Given the description of an element on the screen output the (x, y) to click on. 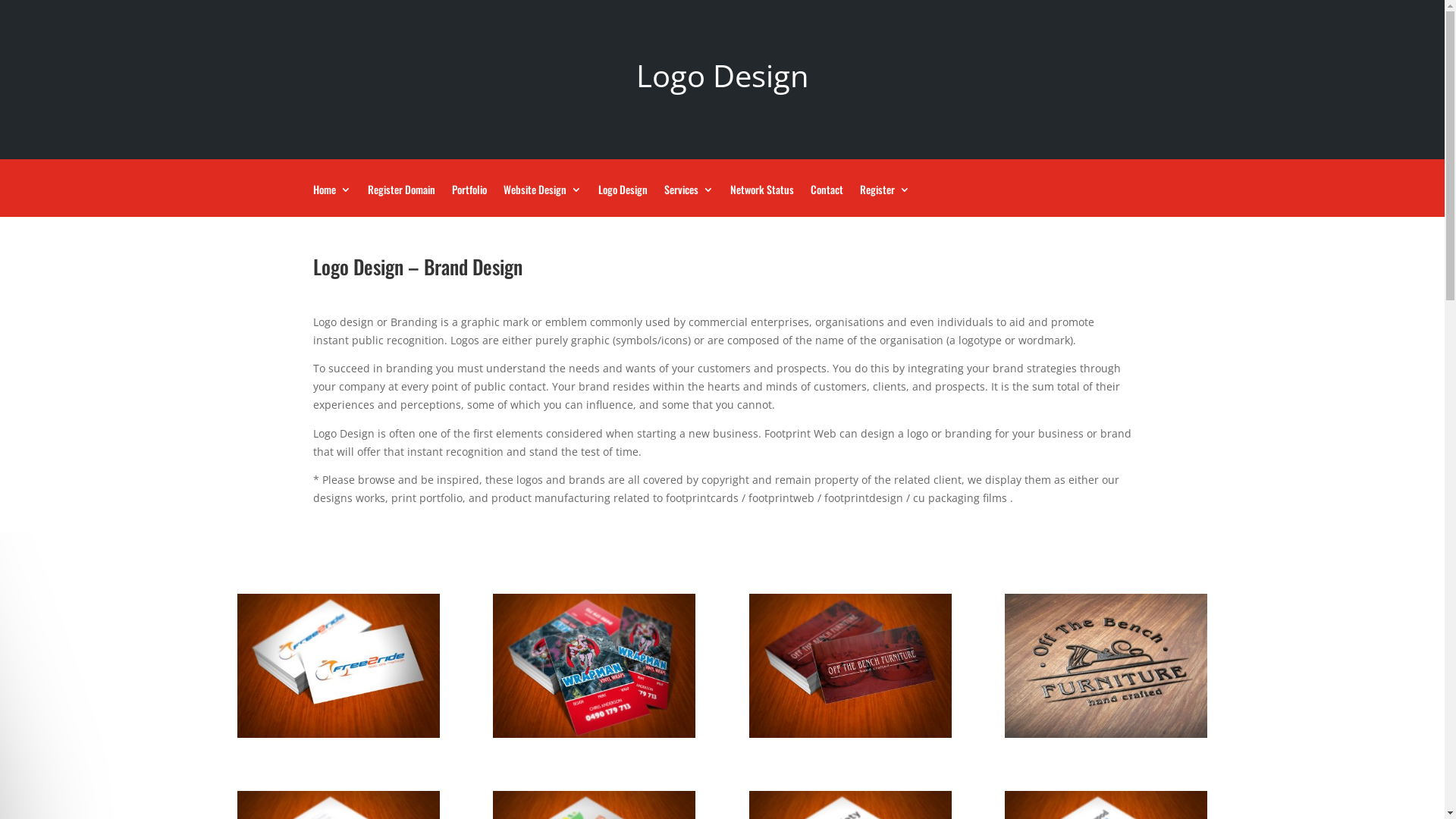
Register Element type: text (884, 200)
footprintweb.com.au logo27 Element type: hover (337, 733)
Website Design Element type: text (542, 200)
Logo Design Element type: text (621, 200)
Contact Element type: text (825, 200)
Home Element type: text (331, 200)
Services Element type: text (688, 200)
footprintweb.com.au logo24 Element type: hover (1105, 733)
footprintweb.com.au logo25 Element type: hover (850, 733)
Network Status Element type: text (761, 200)
Register Domain Element type: text (400, 200)
Portfolio Element type: text (468, 200)
footprintweb.com.au logo26 Element type: hover (593, 733)
